Given the description of an element on the screen output the (x, y) to click on. 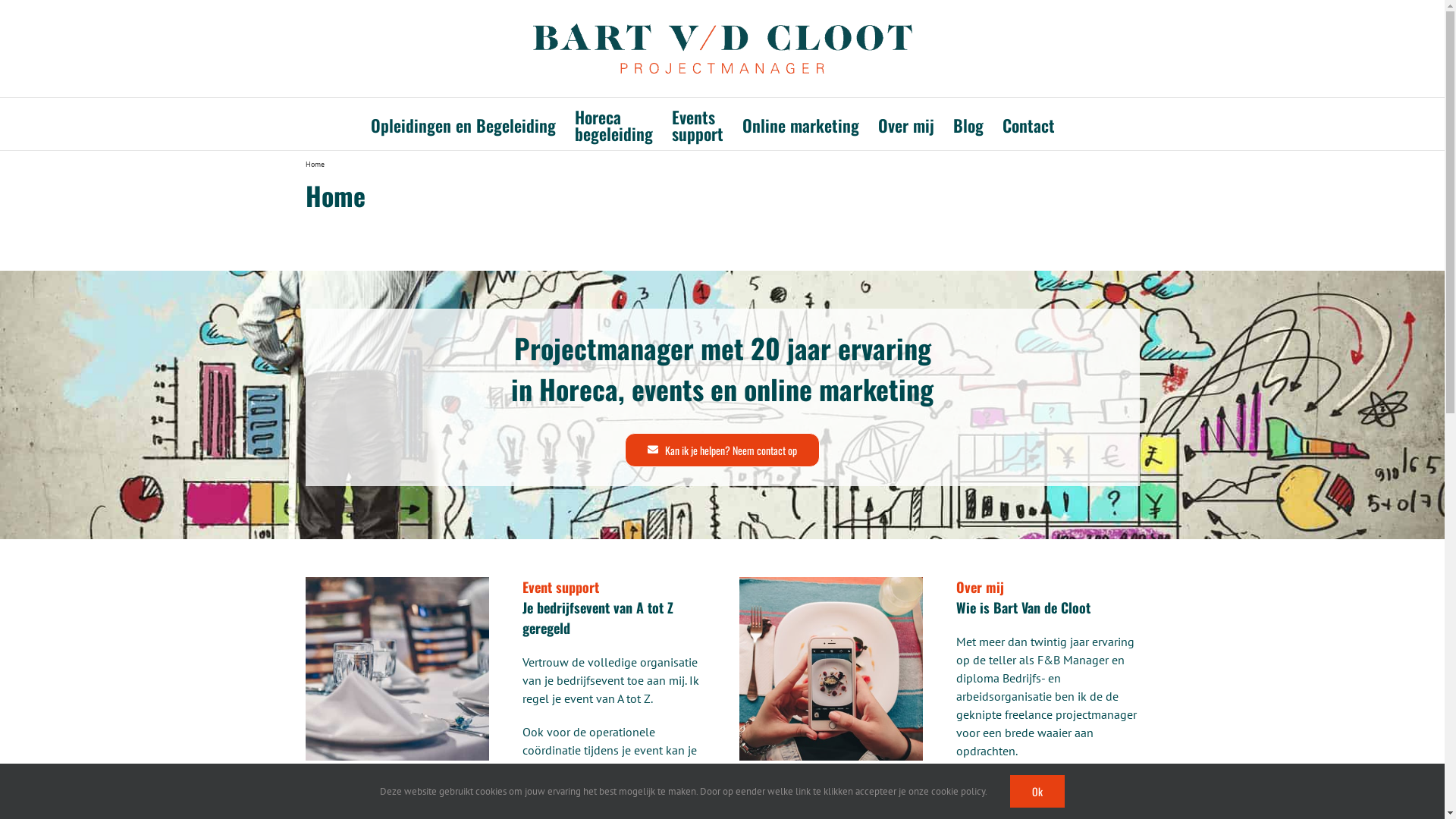
Kan ik je helpen? Neem contact op Element type: text (722, 450)
Online marketing Element type: text (800, 123)
Online marketing Element type: text (786, 770)
Opleidingen en Begeleiding Element type: text (462, 123)
Contact Element type: text (1028, 123)
Over mij Element type: text (906, 123)
Horeca
begeleiding Element type: text (613, 123)
Blog Element type: text (968, 123)
Ok Element type: text (1037, 791)
Over mij Element type: text (979, 586)
Horeca begeleiding Element type: text (357, 770)
Event support Element type: text (559, 586)
Events
support Element type: text (697, 123)
